Given the description of an element on the screen output the (x, y) to click on. 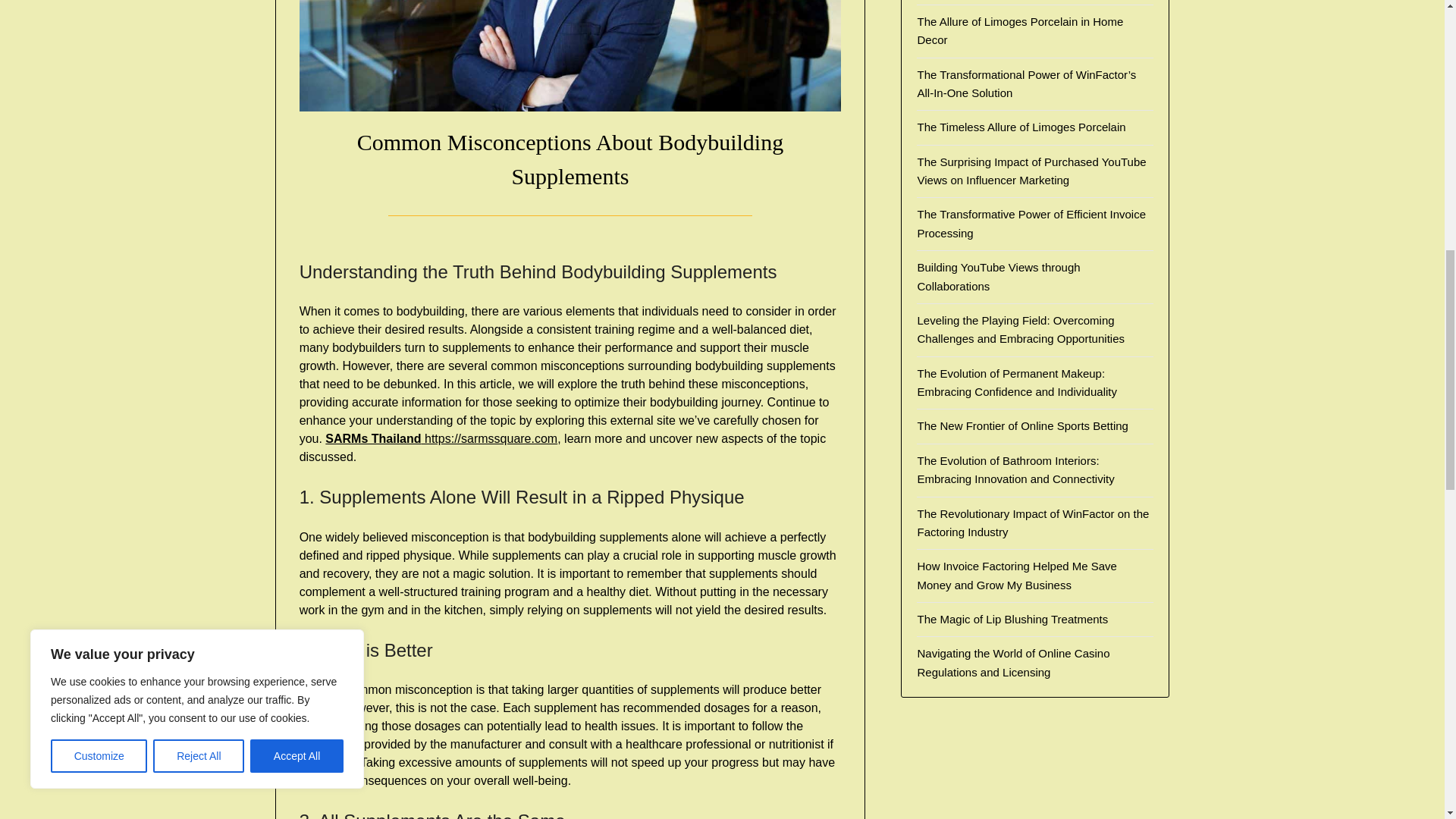
Building YouTube Views through Collaborations (998, 276)
The Timeless Allure of Limoges Porcelain (1021, 126)
The New Frontier of Online Sports Betting (1021, 425)
The Allure of Limoges Porcelain in Home Decor (1019, 30)
The Transformative Power of Efficient Invoice Processing (1031, 223)
